Given the description of an element on the screen output the (x, y) to click on. 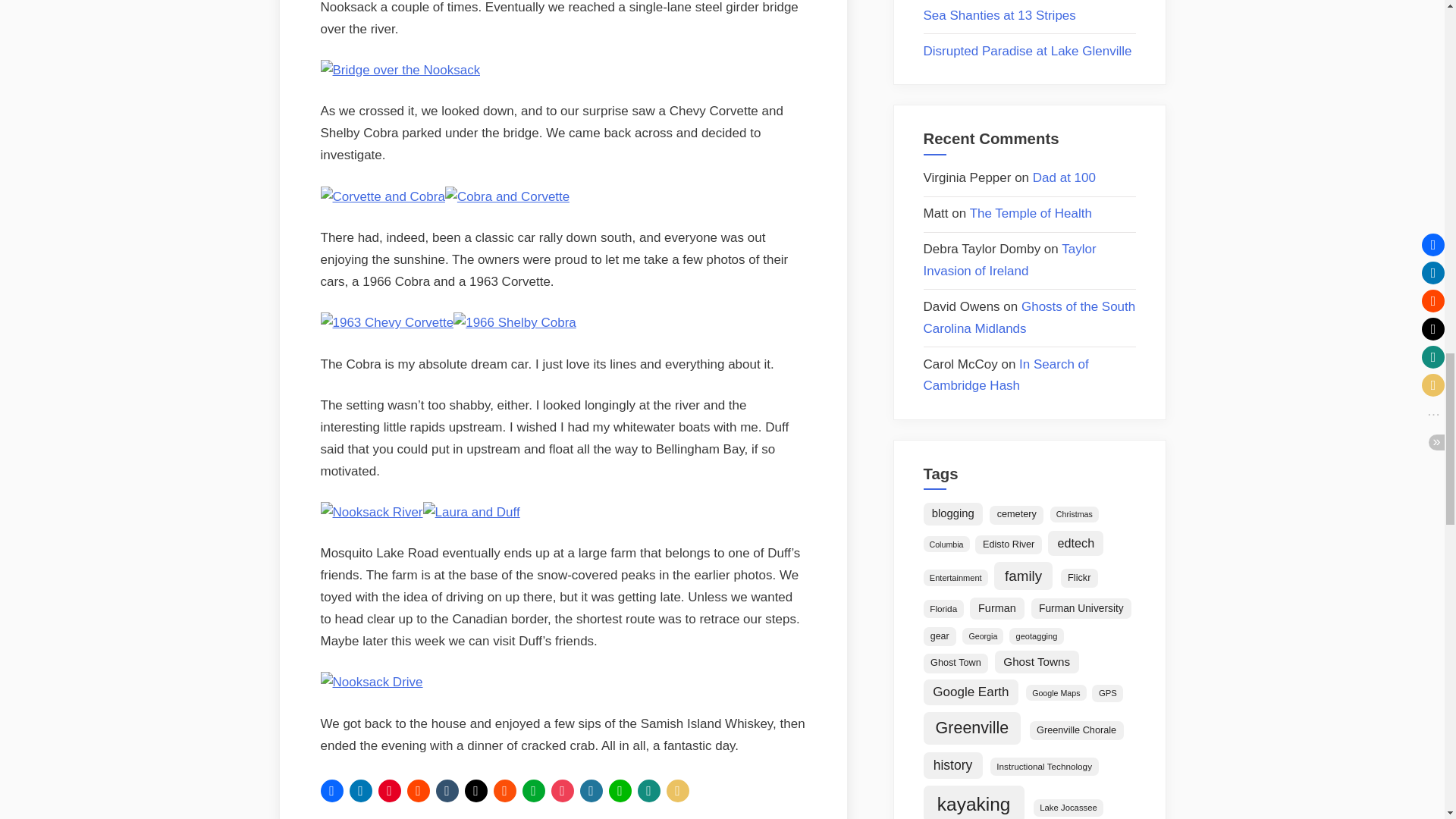
Bridge over the Nooksack by RandomConnections, on Flickr (400, 69)
